Given the description of an element on the screen output the (x, y) to click on. 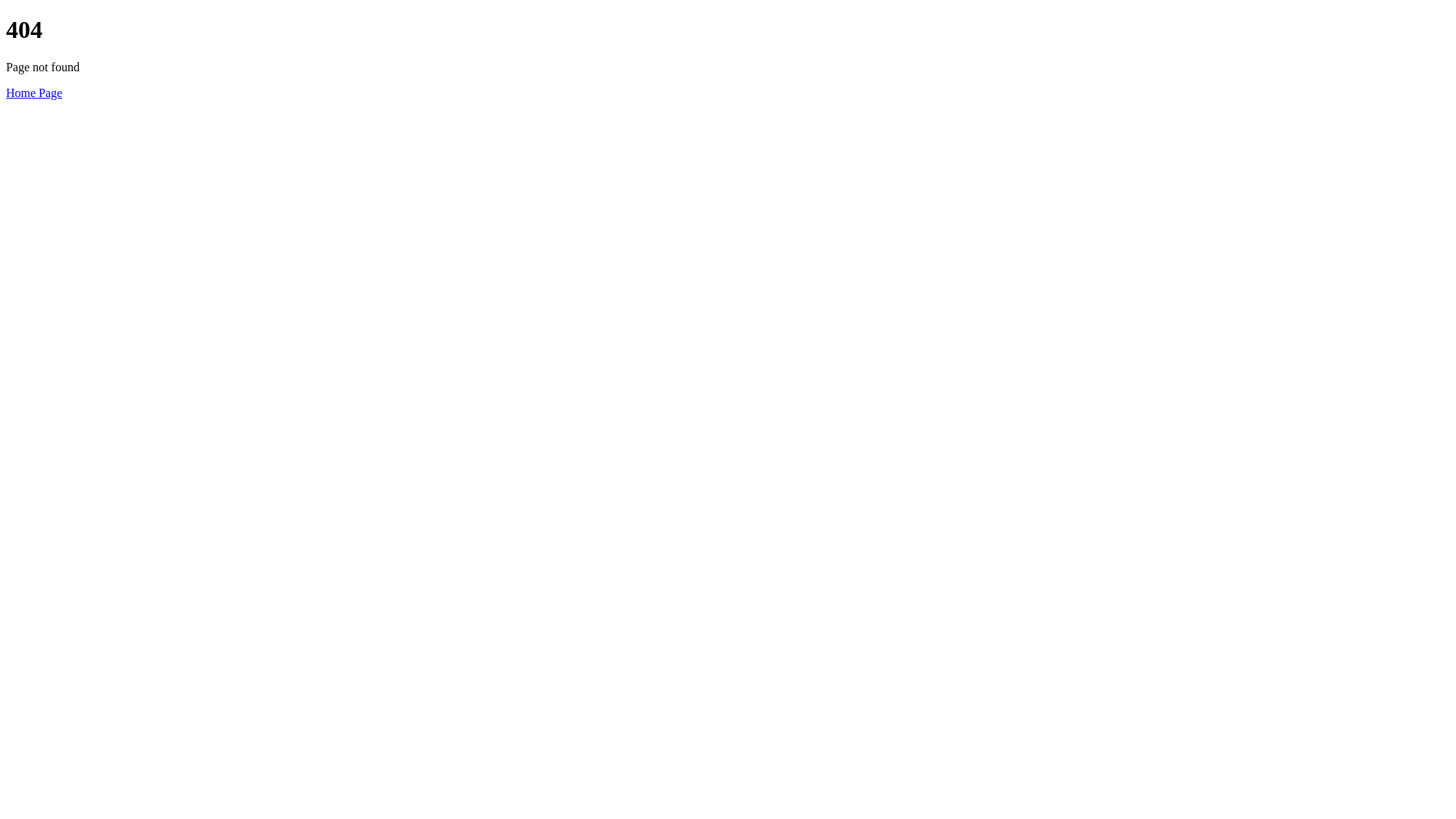
Home Page Element type: text (34, 92)
